Given the description of an element on the screen output the (x, y) to click on. 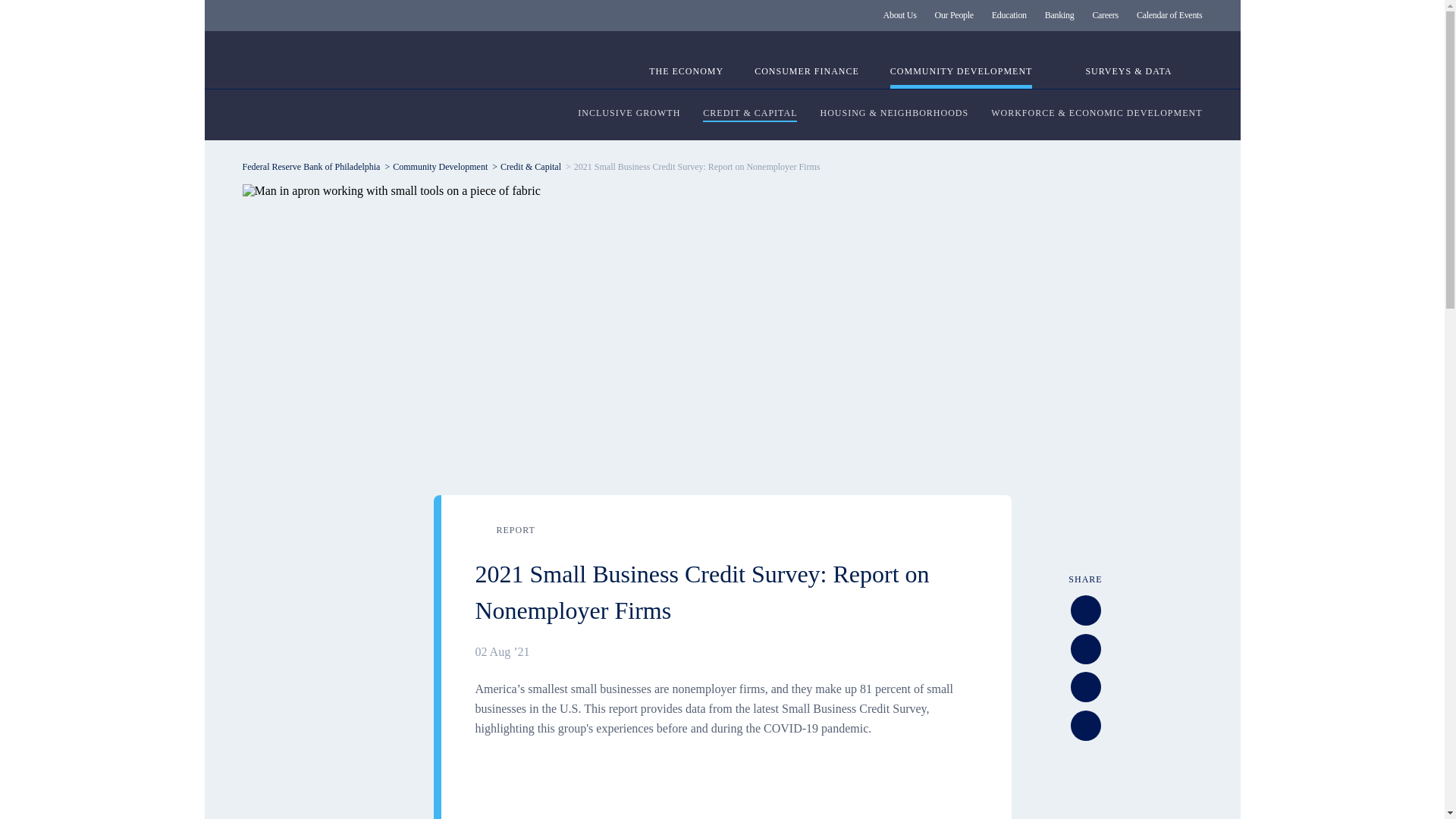
COMMUNITY DEVELOPMENT (960, 77)
Facebook (1085, 608)
skip to main content (211, 8)
Federal Reserve Bank of Philadelphia (311, 166)
Search (1194, 71)
THE ECONOMY (686, 77)
Banking (1059, 15)
Education (1008, 15)
INCLUSIVE GROWTH (628, 114)
Federal Reserve Bank of Philadelphia (368, 67)
Calendar of Events (1169, 15)
Our People (954, 15)
About Us (900, 15)
Community Development (440, 166)
CONSUMER FINANCE (806, 77)
